Given the description of an element on the screen output the (x, y) to click on. 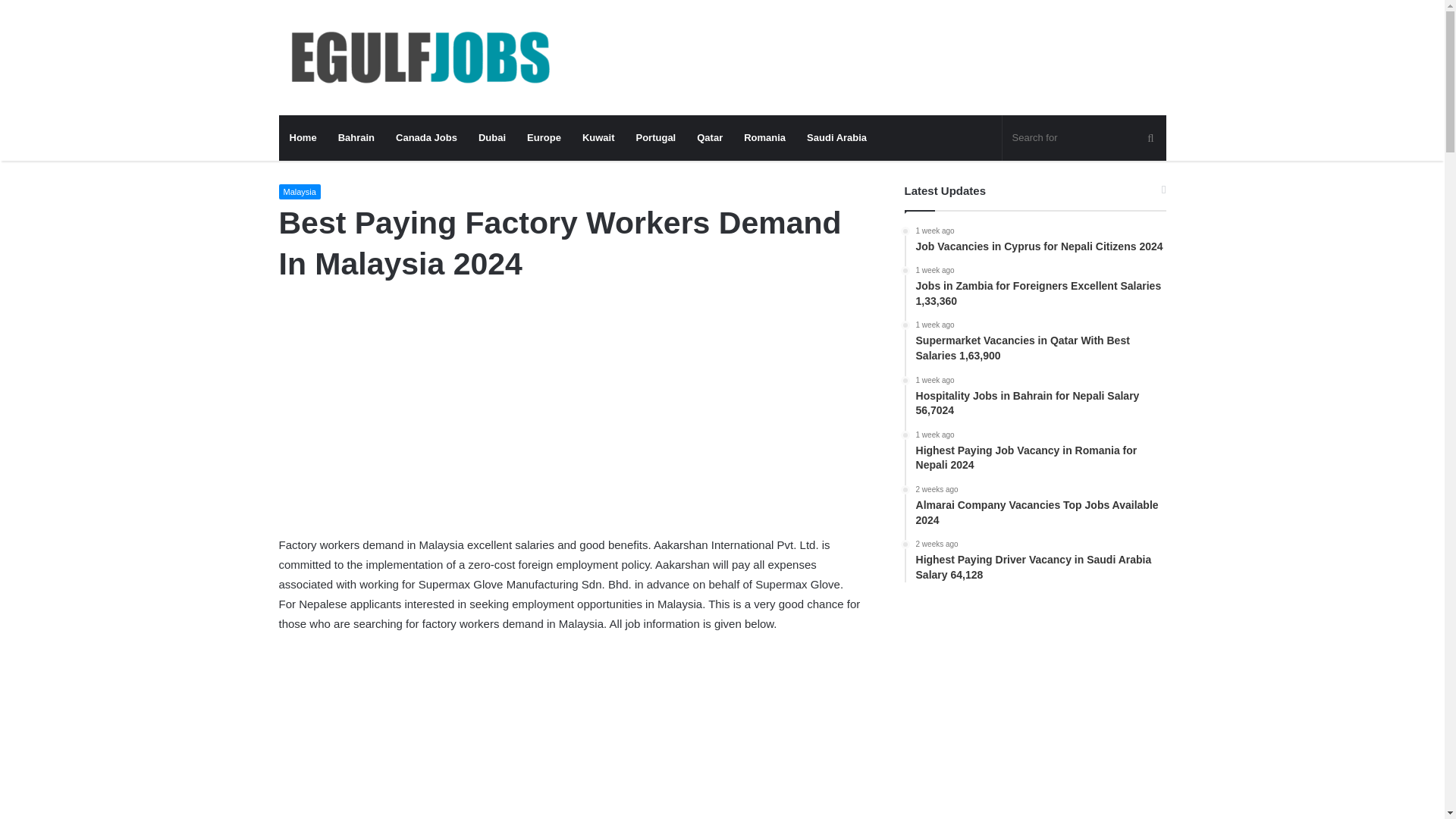
Bahrain (356, 137)
Qatar (709, 137)
Search for (1084, 137)
Advertisement (571, 735)
Dubai (491, 137)
Romania (764, 137)
EGULFJOBS (419, 57)
Kuwait (599, 137)
Home (303, 137)
Malaysia (299, 191)
Portugal (654, 137)
Saudi Arabia (836, 137)
Canada Jobs (426, 137)
Europe (544, 137)
Advertisement (571, 422)
